Given the description of an element on the screen output the (x, y) to click on. 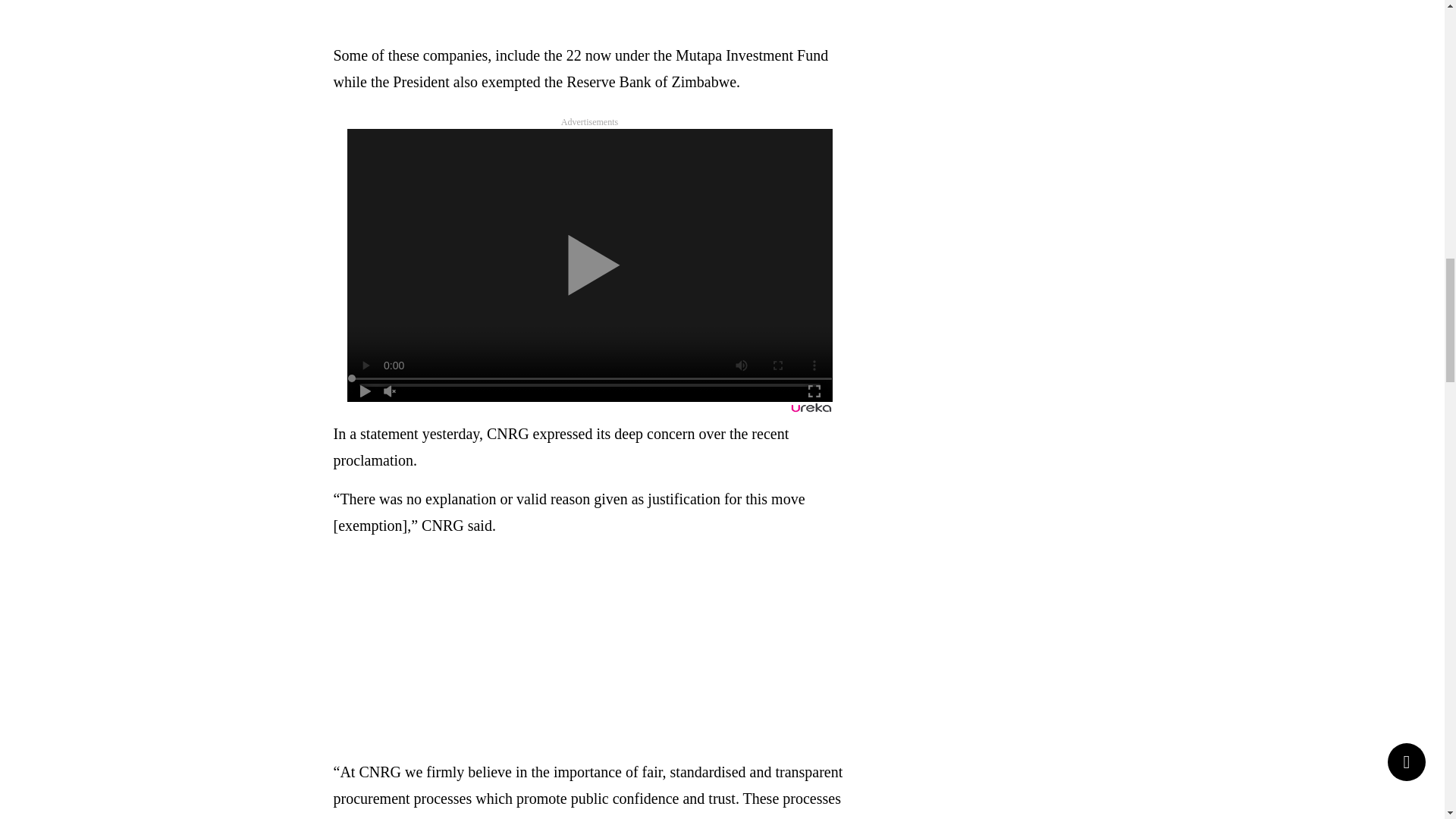
3rd party ad content (589, 648)
Fullscreen (814, 390)
Big play button (589, 265)
3rd party ad content (589, 13)
mute toggle (390, 390)
